Given the description of an element on the screen output the (x, y) to click on. 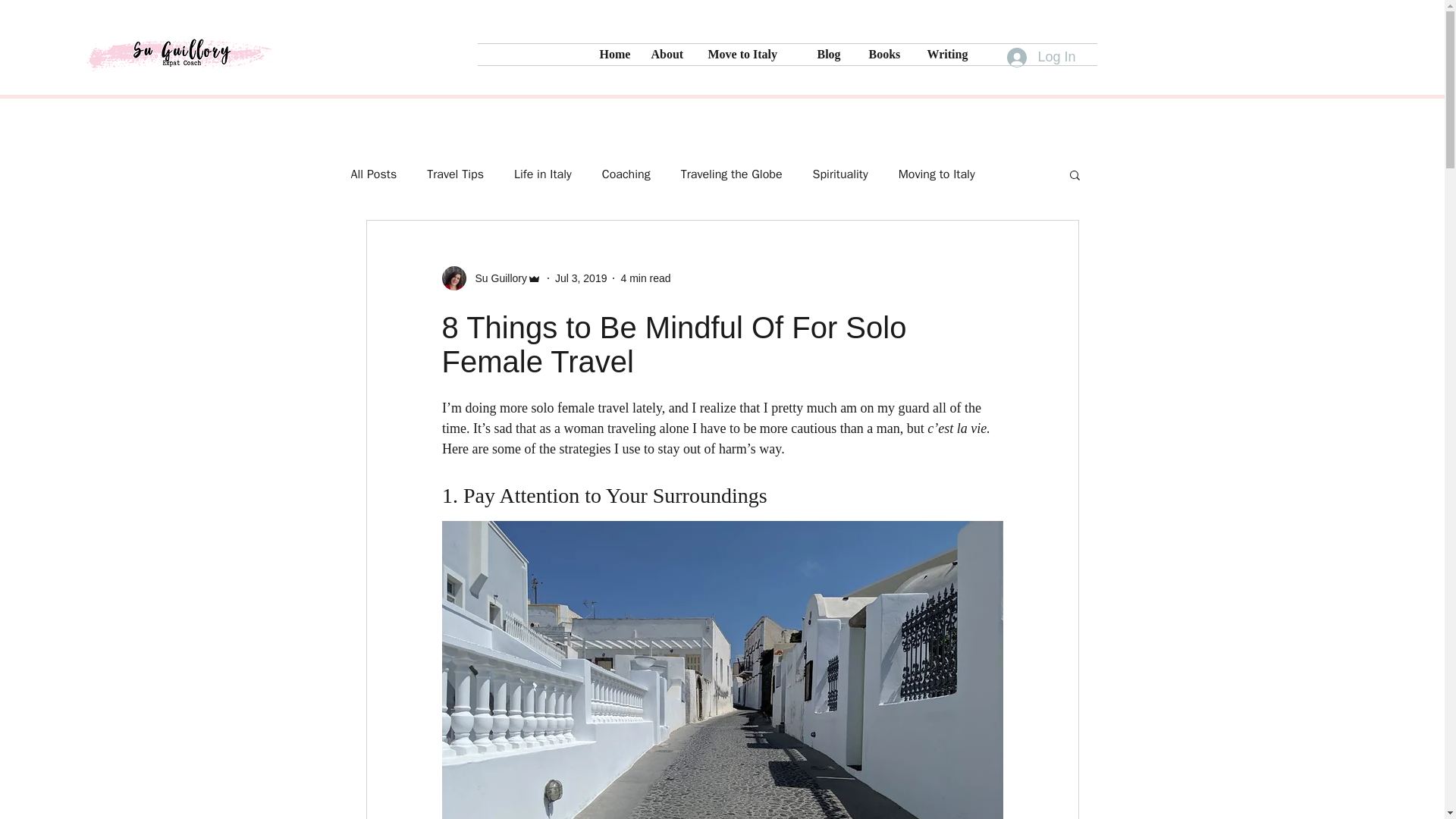
Traveling the Globe (732, 174)
Su Guillory (495, 277)
4 min read (644, 277)
Blog (831, 54)
Books (886, 54)
Jul 3, 2019 (580, 277)
Spirituality (839, 174)
About (668, 54)
Move to Italy (750, 54)
Travel Tips (454, 174)
Su Guillory (490, 278)
All Posts (373, 174)
Home (614, 54)
Moving to Italy (936, 174)
Life in Italy (542, 174)
